Given the description of an element on the screen output the (x, y) to click on. 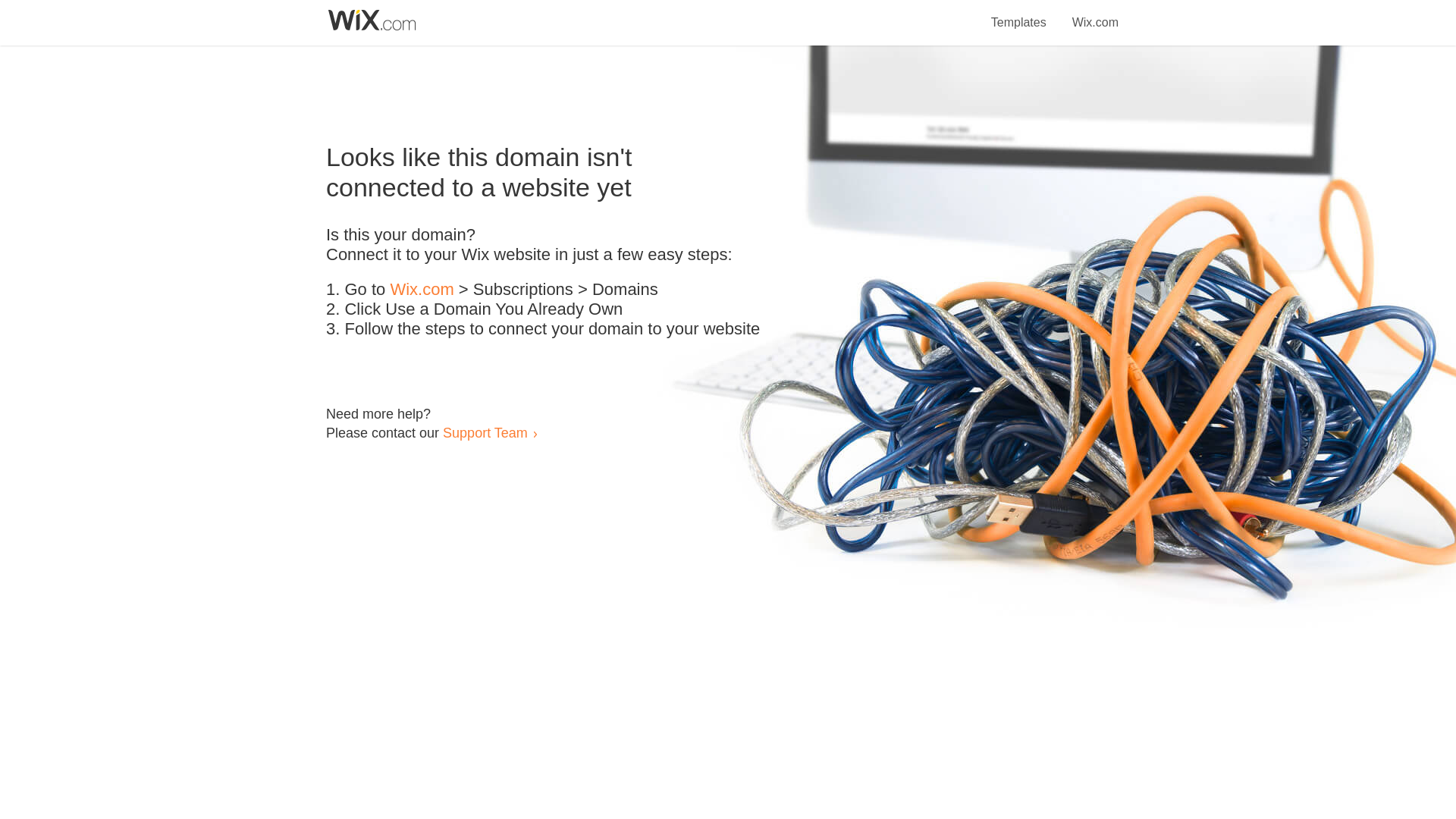
Wix.com (421, 289)
Wix.com (1095, 14)
Templates (1018, 14)
Support Team (484, 432)
